Given the description of an element on the screen output the (x, y) to click on. 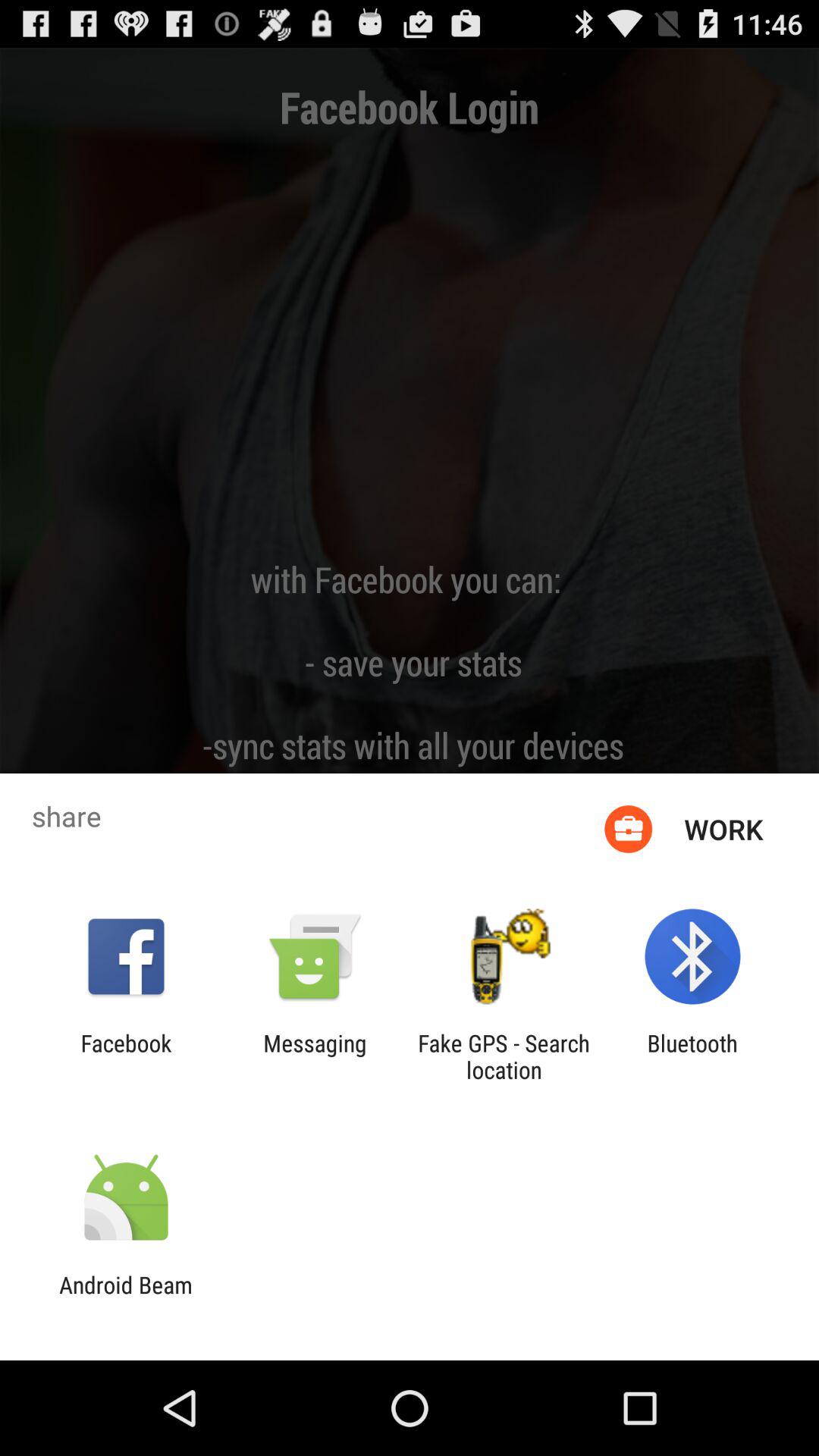
turn off the icon next to the messaging (503, 1056)
